Given the description of an element on the screen output the (x, y) to click on. 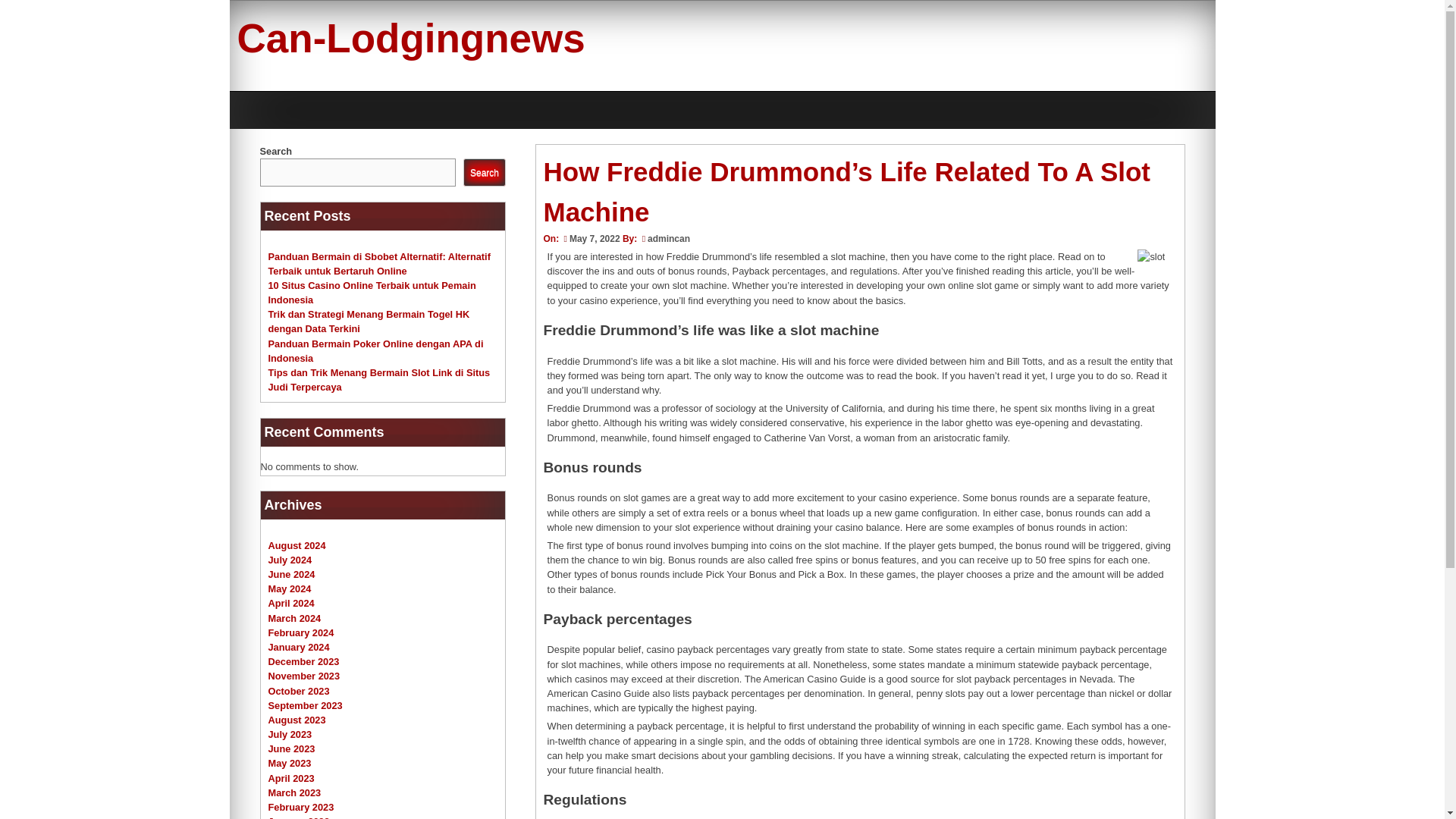
June 2024 (291, 573)
May 2024 (289, 588)
May 7, 2022 (590, 238)
February 2023 (300, 807)
Search (484, 172)
March 2024 (294, 618)
July 2023 (290, 734)
July 2024 (290, 559)
June 2023 (291, 748)
March 2023 (294, 792)
Panduan Bermain Poker Online dengan APA di Indonesia (375, 350)
December 2023 (303, 661)
April 2023 (290, 778)
August 2024 (296, 545)
